Given the description of an element on the screen output the (x, y) to click on. 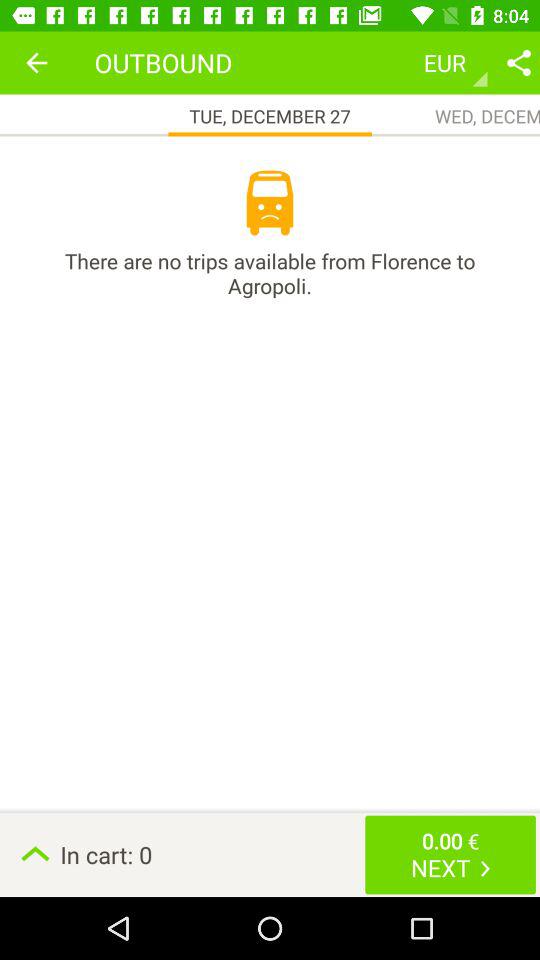
turn on icon next to eur (518, 62)
